Given the description of an element on the screen output the (x, y) to click on. 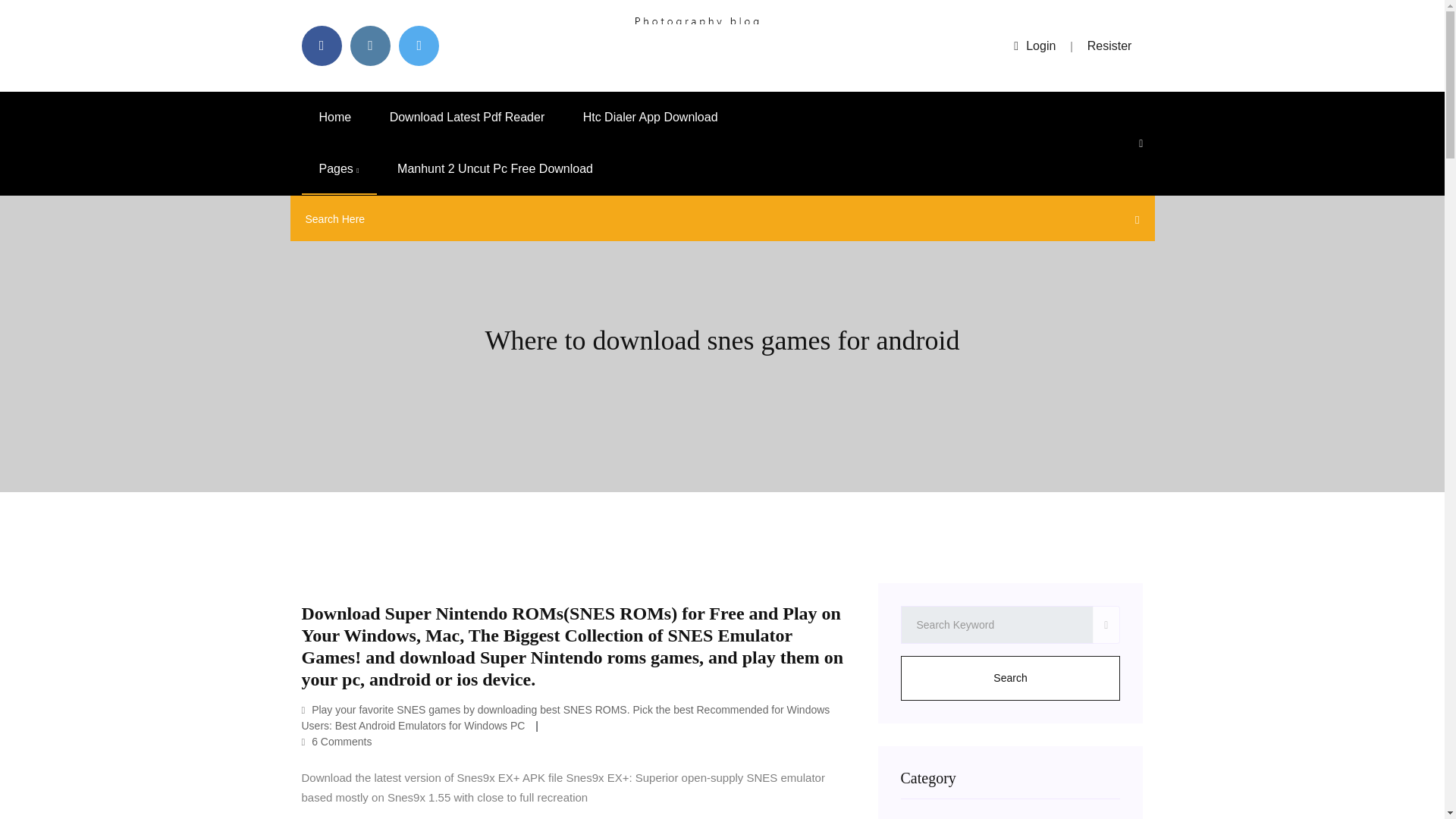
Login (1034, 45)
Download Latest Pdf Reader (467, 117)
6 Comments (336, 741)
Htc Dialer App Download (650, 117)
Pages (339, 168)
Manhunt 2 Uncut Pc Free Download (495, 168)
Resister (1109, 45)
Home (335, 117)
